Given the description of an element on the screen output the (x, y) to click on. 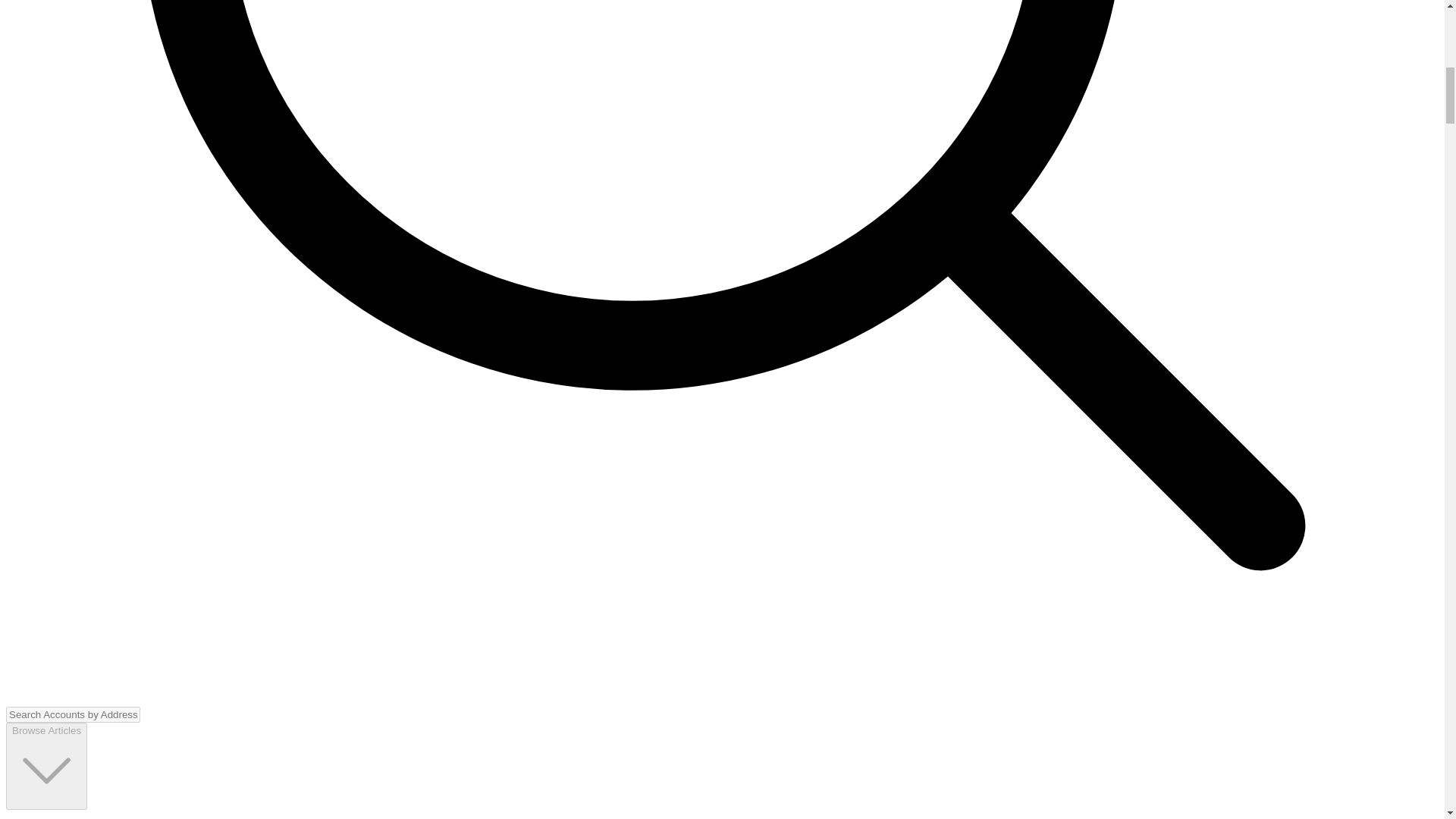
Browse Articles (46, 765)
